Given the description of an element on the screen output the (x, y) to click on. 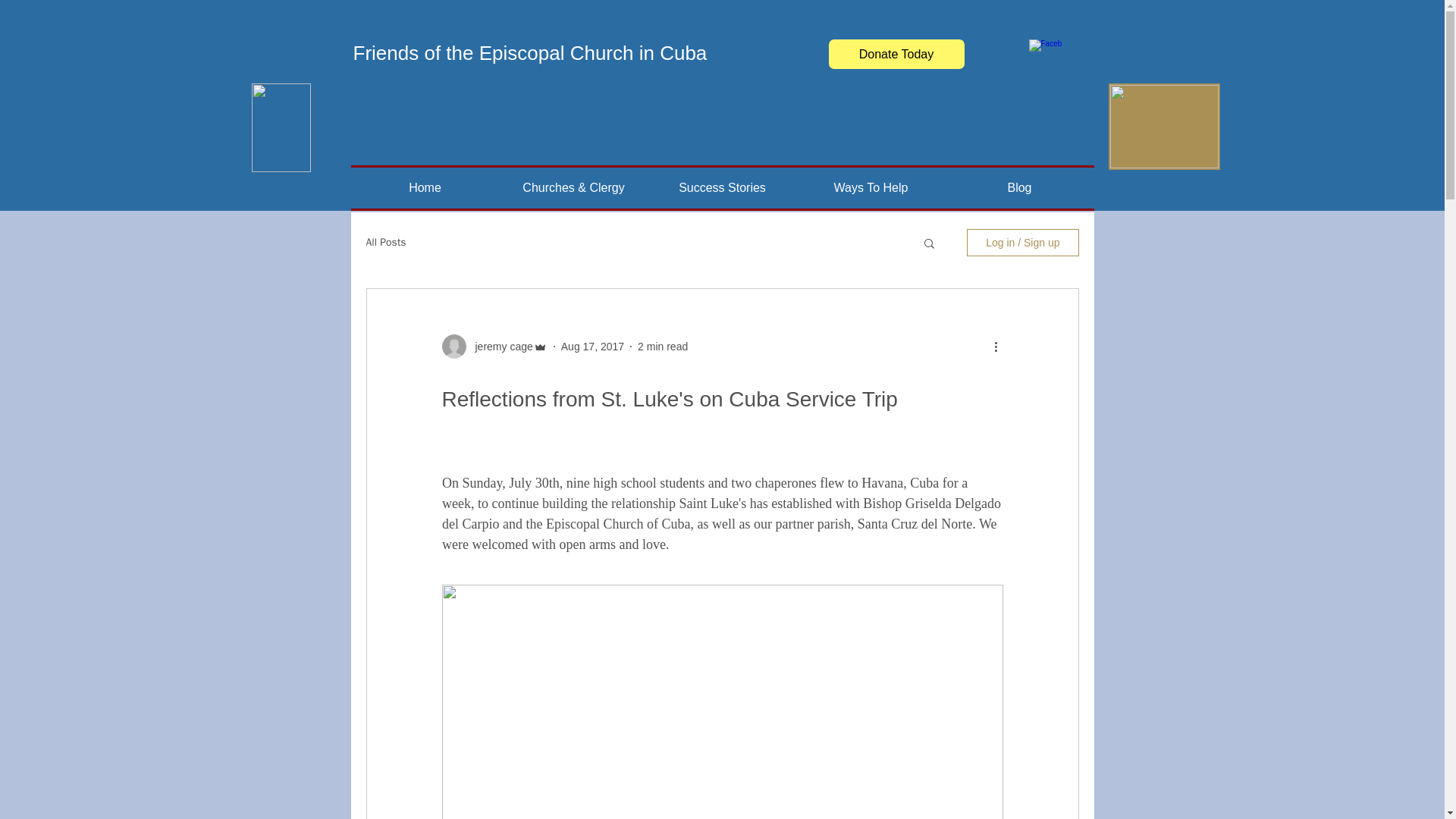
Aug 17, 2017 (592, 345)
All Posts (385, 242)
Blog (1018, 187)
Home (424, 187)
jeremy cage (498, 345)
2 min read (662, 345)
Donate Today (895, 53)
